Given the description of an element on the screen output the (x, y) to click on. 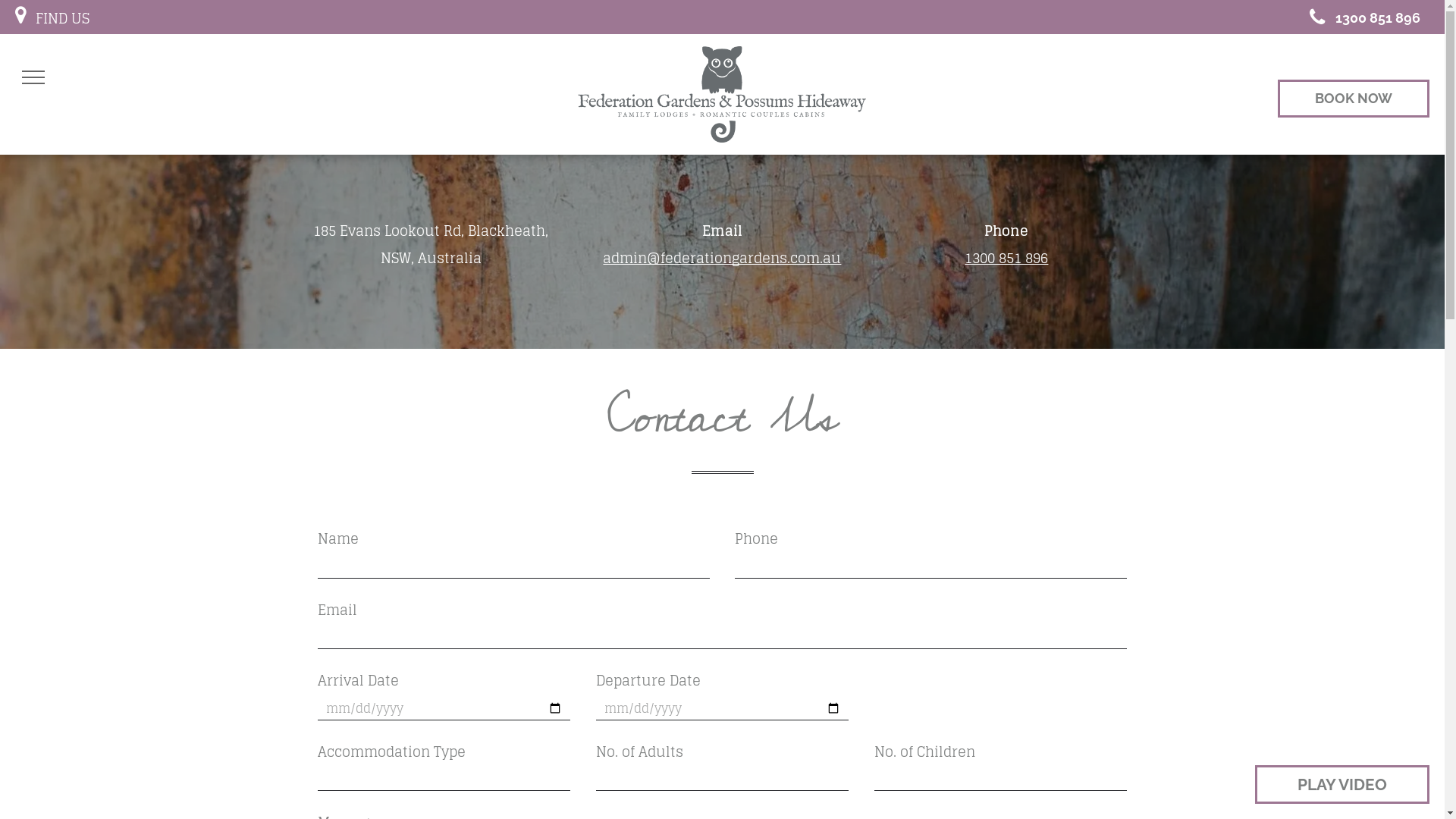
1300 851 896 Element type: text (1006, 257)
BOOK NOW Element type: text (1353, 98)
PLAY VIDEO Element type: text (1342, 784)
admin@federationgardens.com.au Element type: text (721, 257)
1300 851 896 Element type: text (1359, 17)
